Given the description of an element on the screen output the (x, y) to click on. 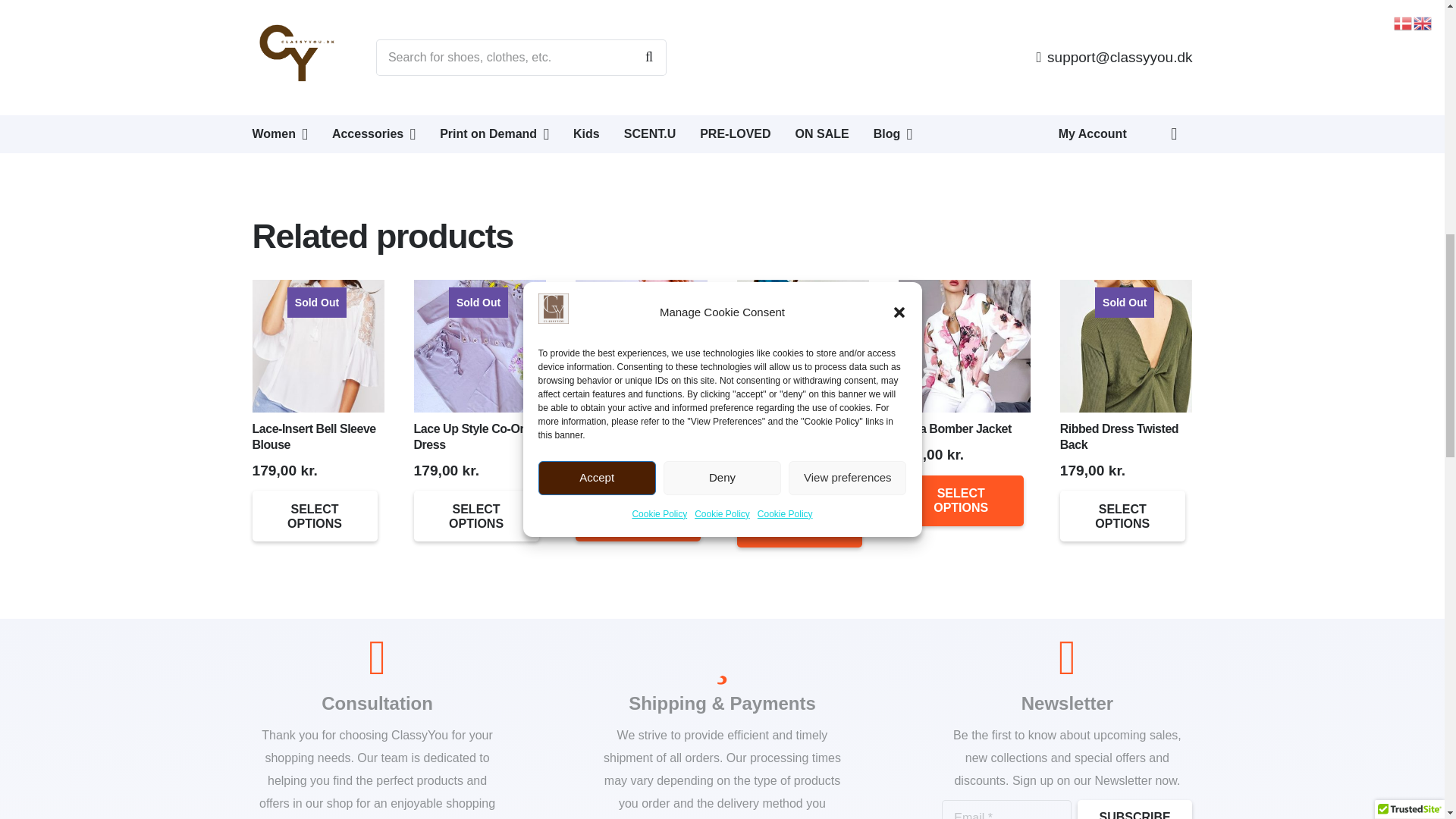
Back to top (30, 26)
